Given the description of an element on the screen output the (x, y) to click on. 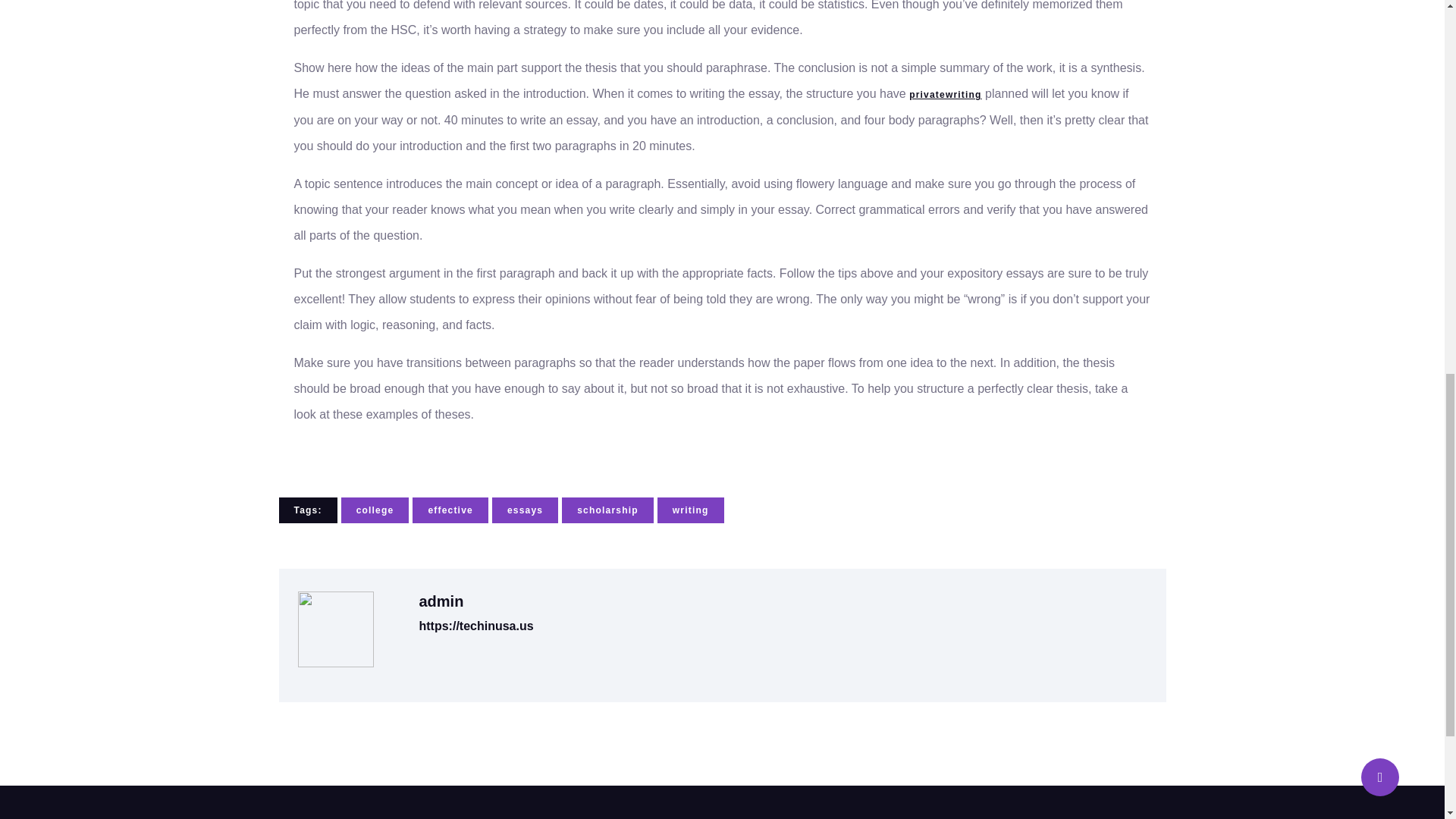
writing (690, 510)
essays (524, 510)
effective (449, 510)
scholarship (607, 510)
privatewriting (944, 94)
college (374, 510)
